Given the description of an element on the screen output the (x, y) to click on. 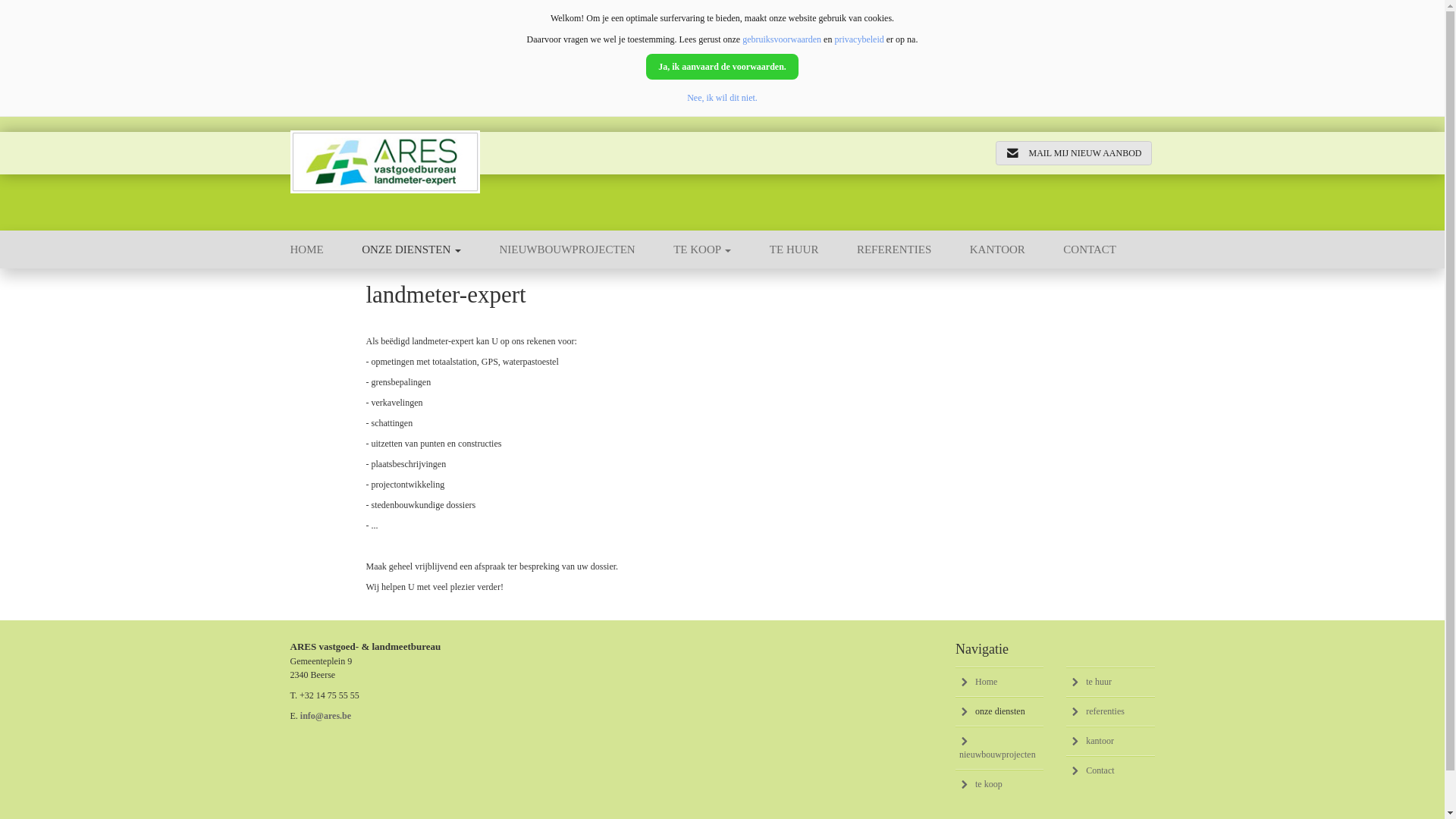
Nee, ik wil dit niet. Element type: text (722, 97)
privacybeleid Element type: text (858, 39)
info@ares.be Element type: text (325, 715)
REFERENTIES Element type: text (912, 249)
KANTOOR Element type: text (1016, 249)
Home Element type: text (999, 681)
NIEUWBOUWPROJECTEN Element type: text (586, 249)
Contact Element type: text (1110, 770)
nieuwbouwprojecten Element type: text (999, 747)
referenties Element type: text (1110, 710)
HOME Element type: text (325, 249)
gebruiksvoorwaarden Element type: text (781, 39)
te koop Element type: text (999, 783)
TE KOOP Element type: text (721, 249)
ONZE DIENSTEN Element type: text (429, 249)
MAIL MIJ NIEUW AANBOD Element type: text (1072, 153)
CONTACT Element type: text (1108, 249)
TE HUUR Element type: text (812, 249)
te huur Element type: text (1110, 681)
Ja, ik aanvaard de voorwaarden. Element type: text (722, 66)
kantoor Element type: text (1110, 740)
